Given the description of an element on the screen output the (x, y) to click on. 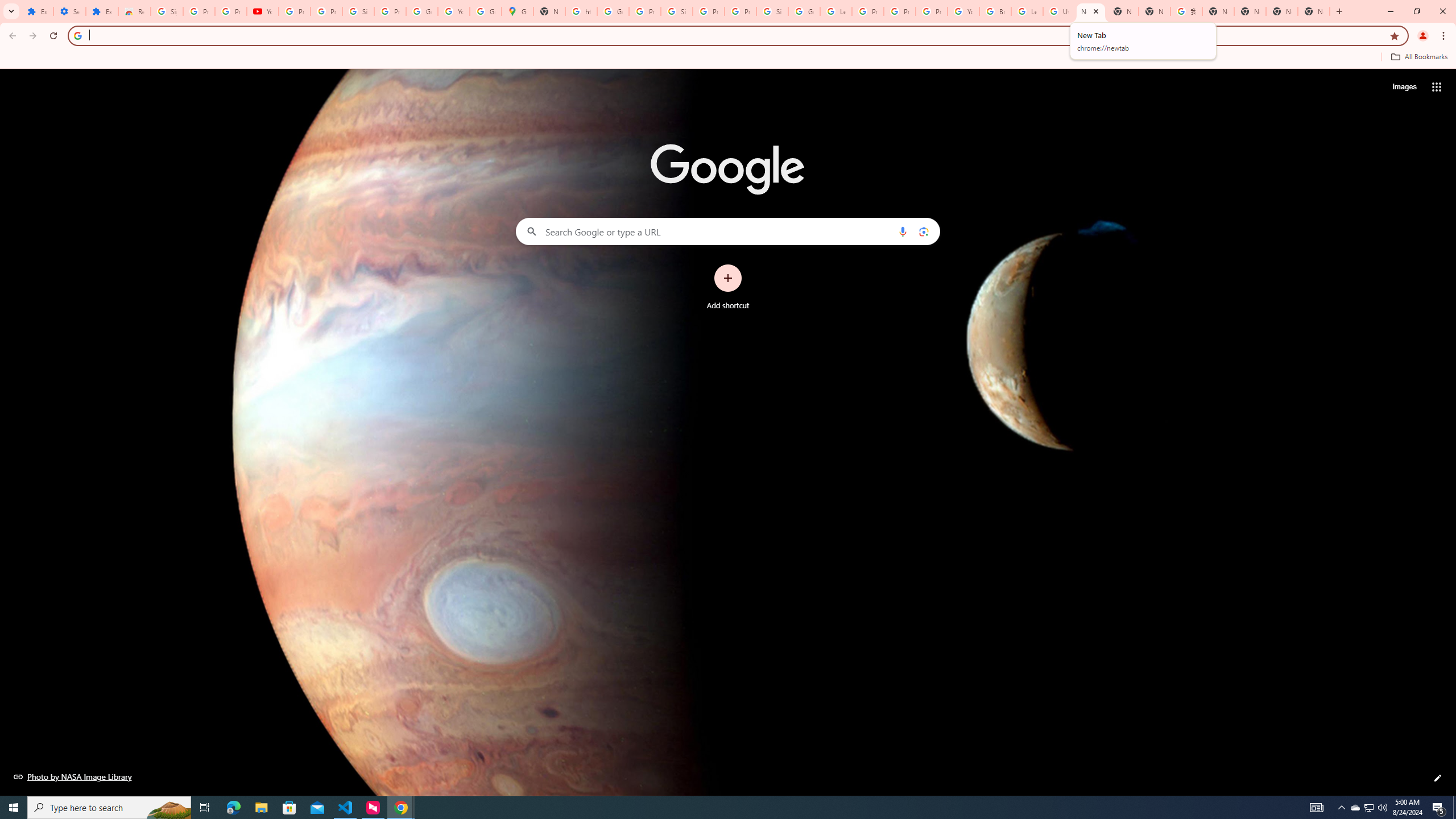
New Tab (1123, 11)
New Tab (1313, 11)
Photo by NASA Image Library (72, 776)
Extensions (101, 11)
Extensions (37, 11)
